Given the description of an element on the screen output the (x, y) to click on. 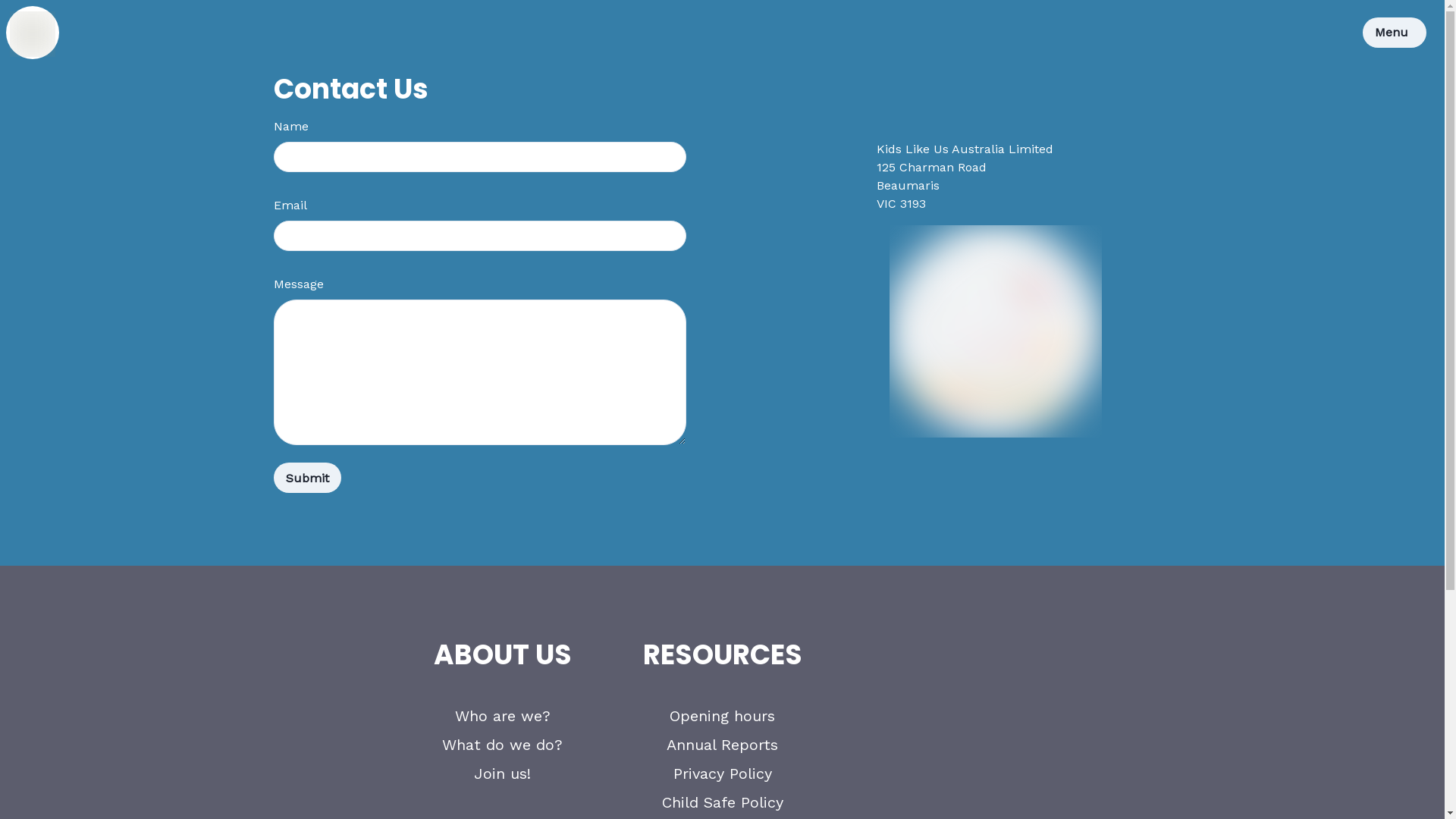
Menu Element type: text (1394, 32)
What do we do? Element type: text (502, 744)
Who are we? Element type: text (502, 715)
Annual Reports Element type: text (722, 744)
Join us! Element type: text (501, 773)
Submit Element type: text (306, 477)
Opening hours Element type: text (722, 715)
Privacy Policy Element type: text (722, 773)
Child Safe Policy Element type: text (721, 802)
